Given the description of an element on the screen output the (x, y) to click on. 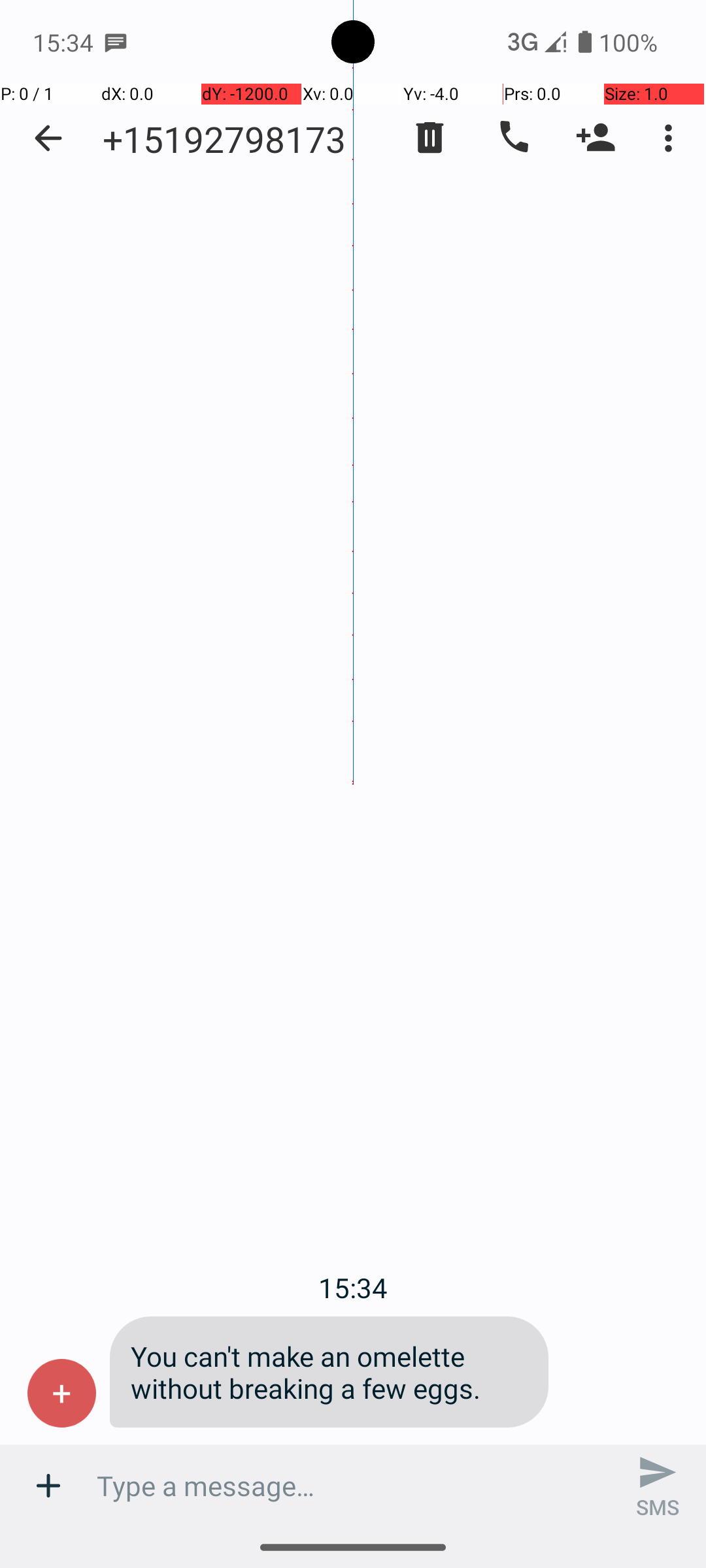
+15192798173 Element type: android.widget.TextView (223, 138)
You can't make an omelette without breaking a few eggs. Element type: android.widget.TextView (328, 1371)
